Given the description of an element on the screen output the (x, y) to click on. 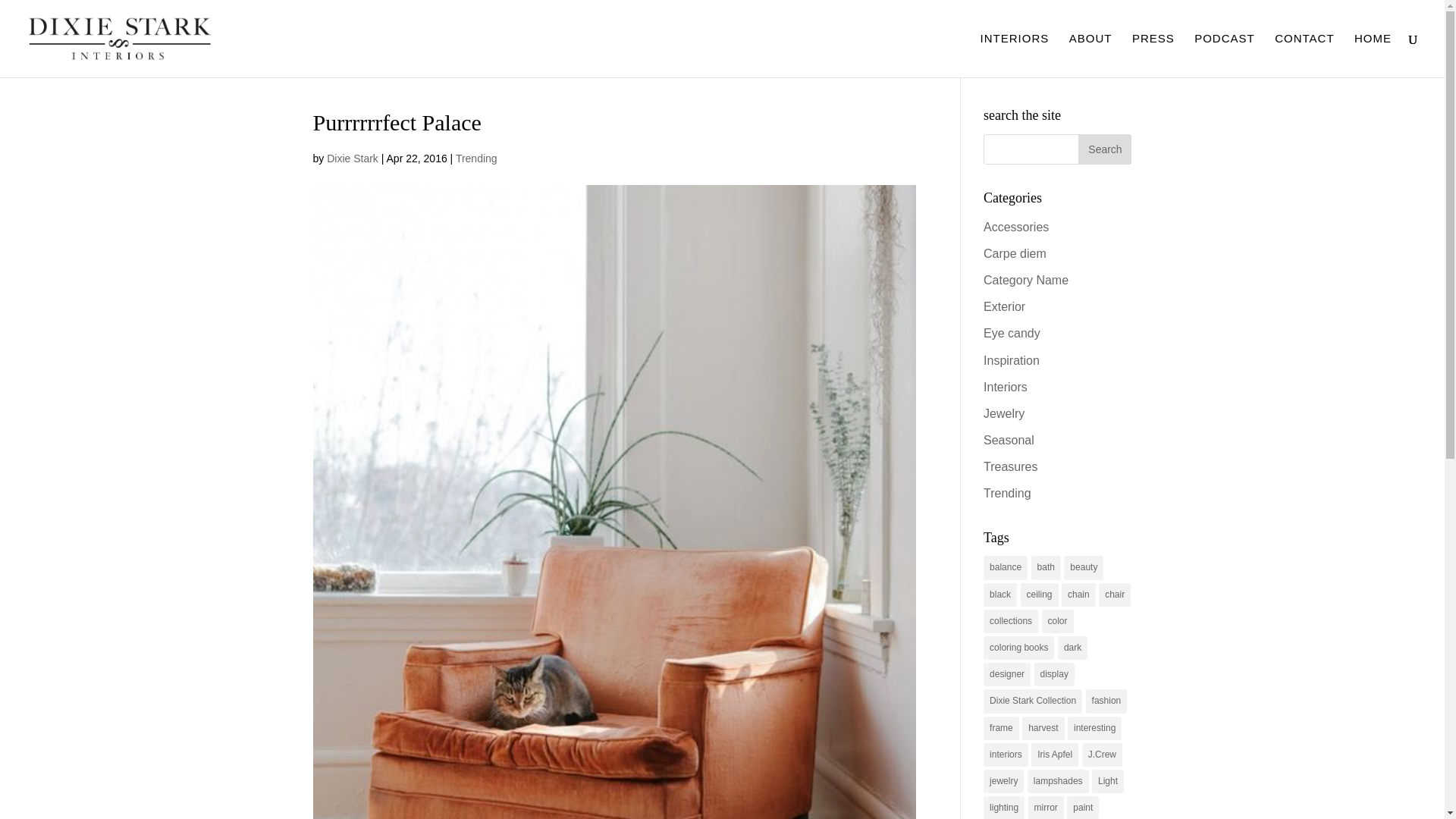
frame (1001, 728)
Carpe diem (1015, 253)
Dixie Stark (352, 158)
bath (1045, 567)
dark (1072, 648)
Seasonal (1008, 440)
ceiling (1039, 594)
Interiors (1005, 386)
harvest (1043, 728)
collections (1011, 621)
